Given the description of an element on the screen output the (x, y) to click on. 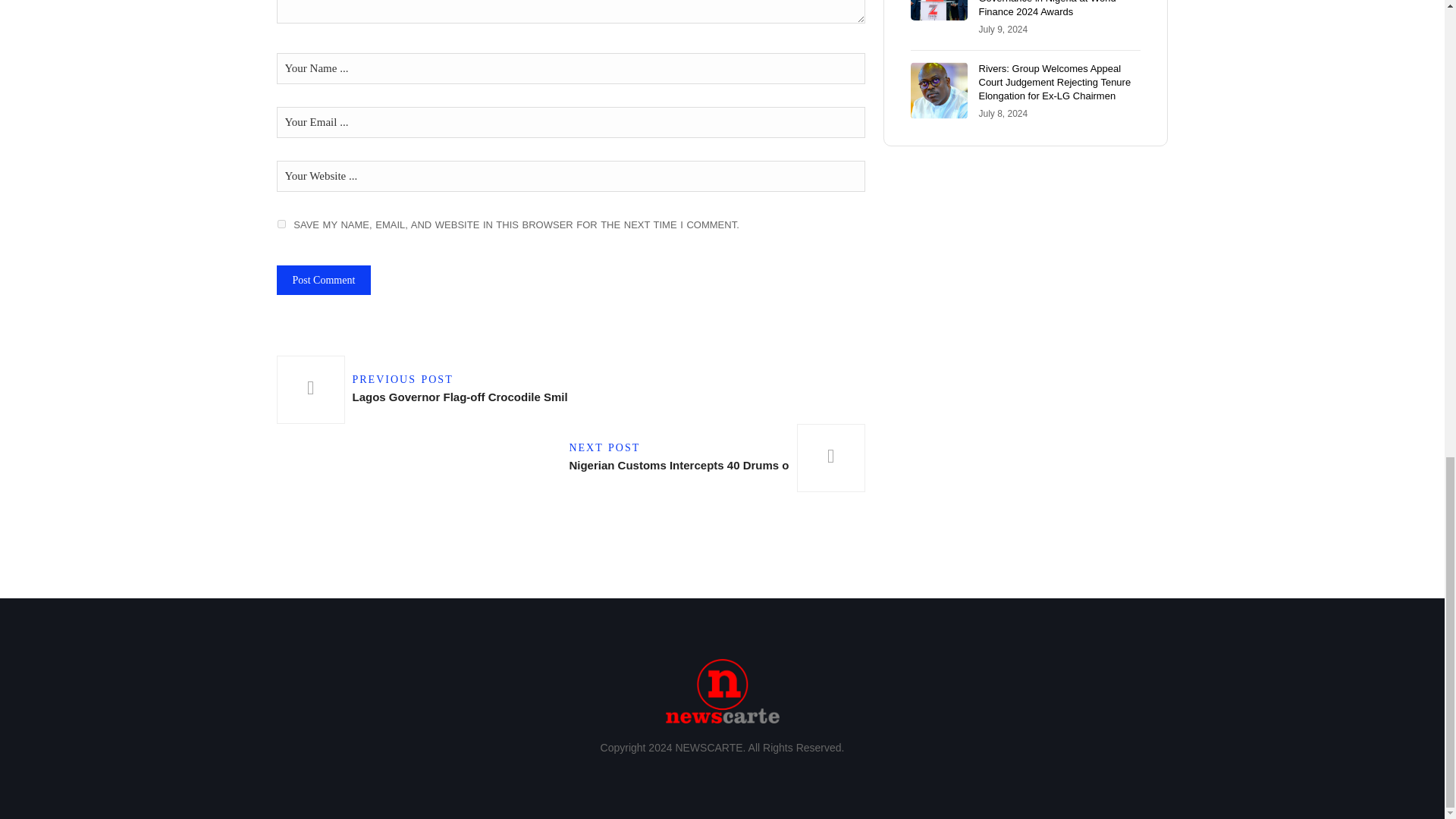
Lagos Governor Flag-off Crocodile Smile IV (425, 389)
yes (280, 224)
Post Comment (425, 389)
Post Comment (323, 279)
